Given the description of an element on the screen output the (x, y) to click on. 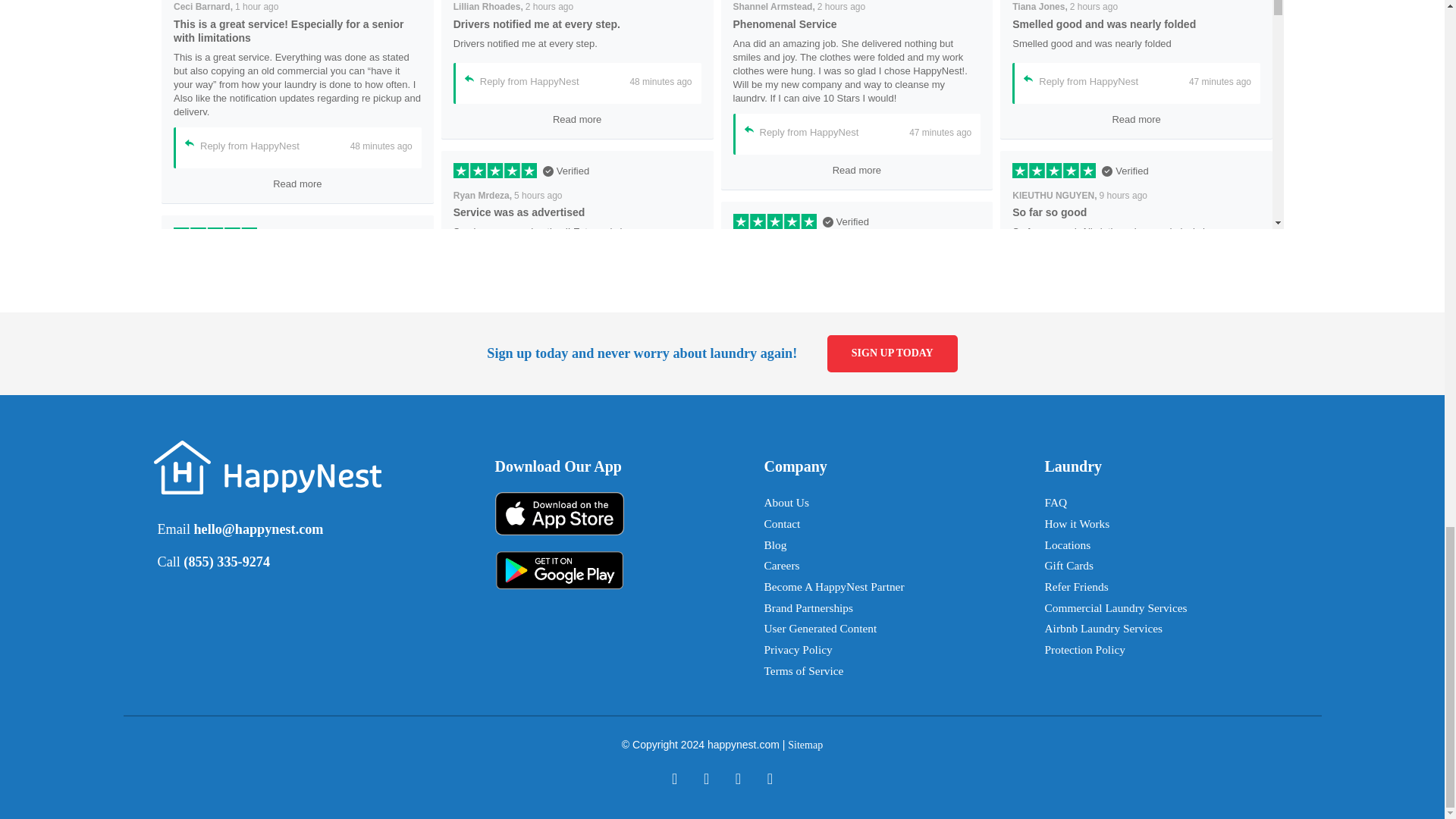
apple-badge (559, 505)
google-play-badge (559, 562)
horizontal no tagline white (266, 467)
